Given the description of an element on the screen output the (x, y) to click on. 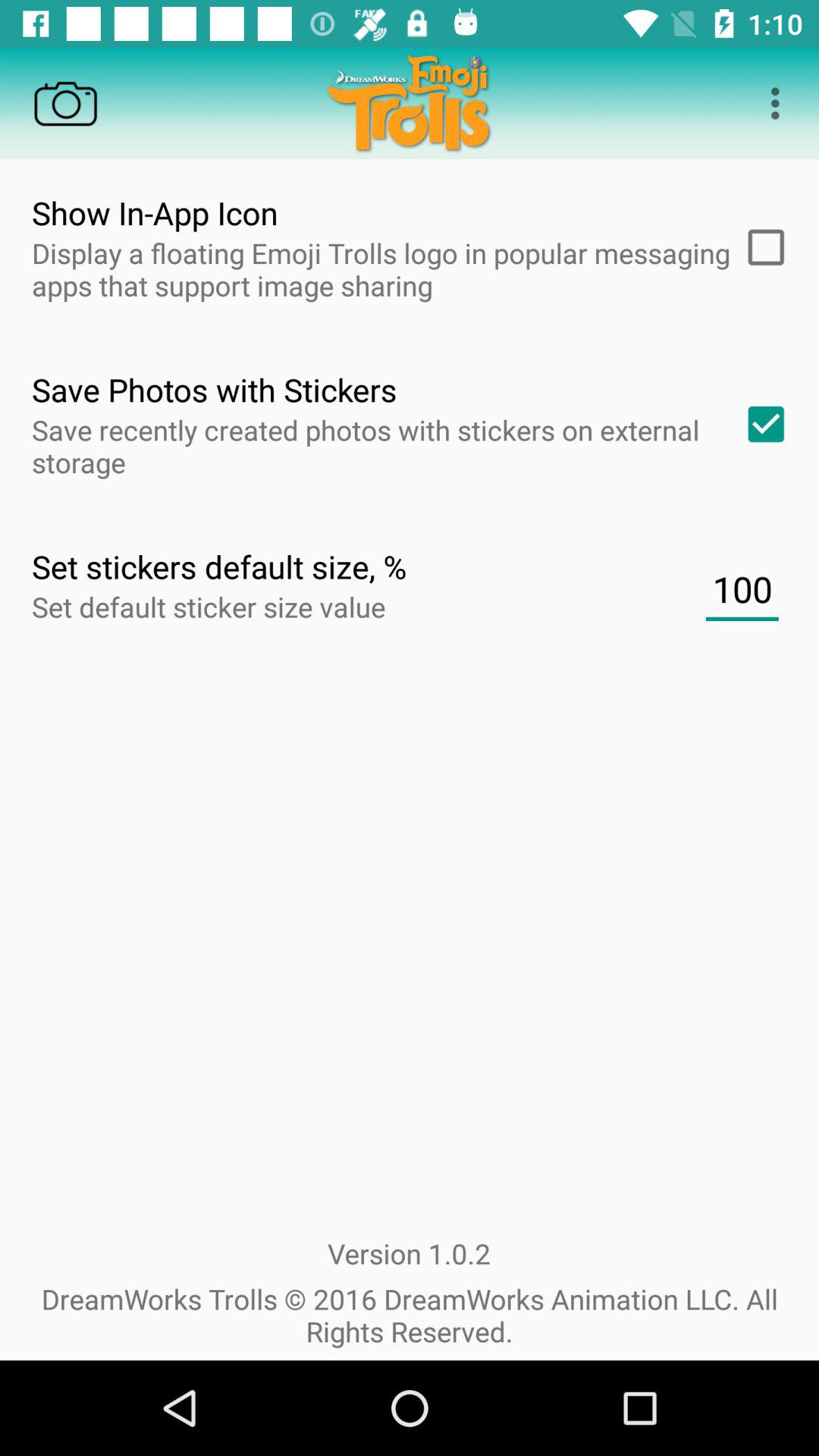
launch icon above dreamworks trolls 2016 (741, 589)
